Given the description of an element on the screen output the (x, y) to click on. 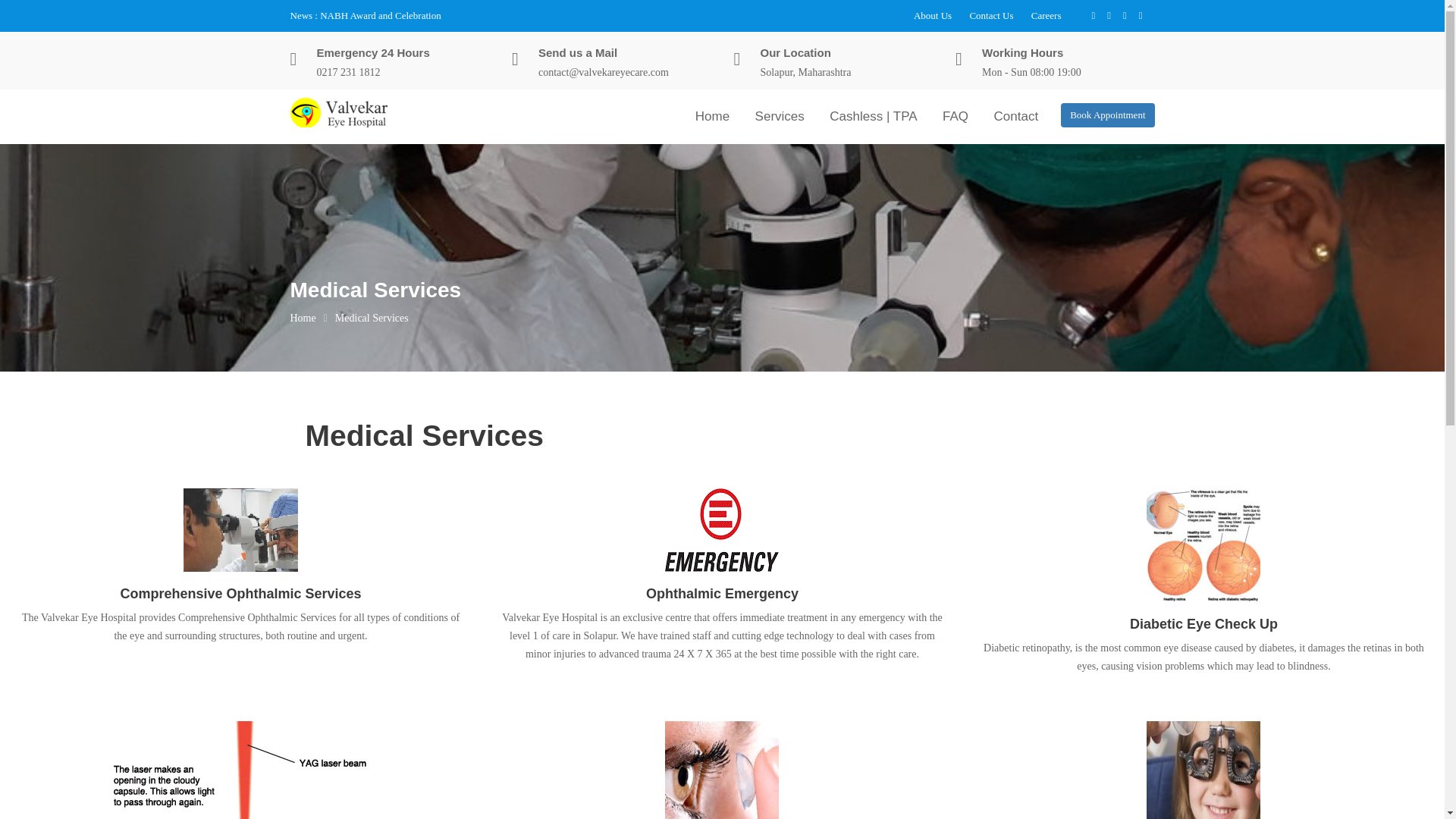
NABH Award and Celebration (380, 15)
Careers (1045, 15)
Home (712, 116)
Contact (1015, 116)
Services (779, 116)
NABH Award and Celebration (380, 15)
Contact Us (991, 15)
Book Appointment (1107, 115)
About Us (933, 15)
Home (302, 318)
